Given the description of an element on the screen output the (x, y) to click on. 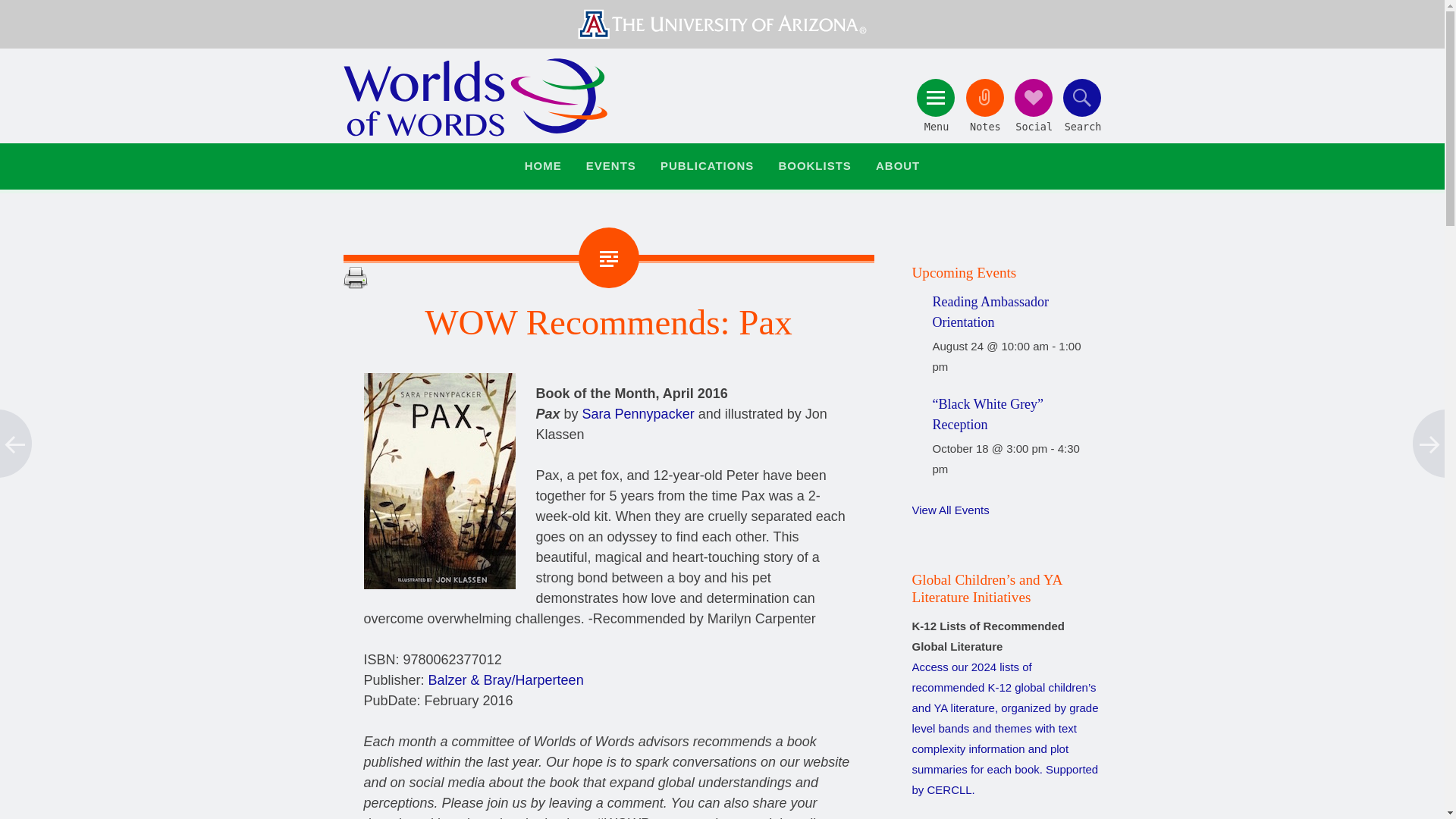
BOOKLISTS (813, 166)
PUBLICATIONS (707, 166)
ABOUT (898, 166)
EVENTS (611, 166)
HOME (543, 166)
Worlds of Words (474, 97)
